Given the description of an element on the screen output the (x, y) to click on. 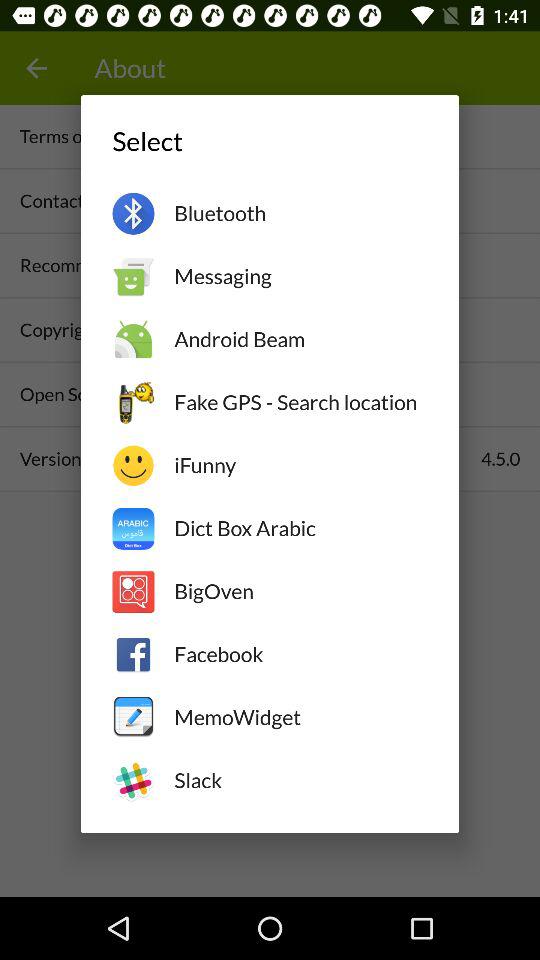
click item above the bigoven item (300, 528)
